Given the description of an element on the screen output the (x, y) to click on. 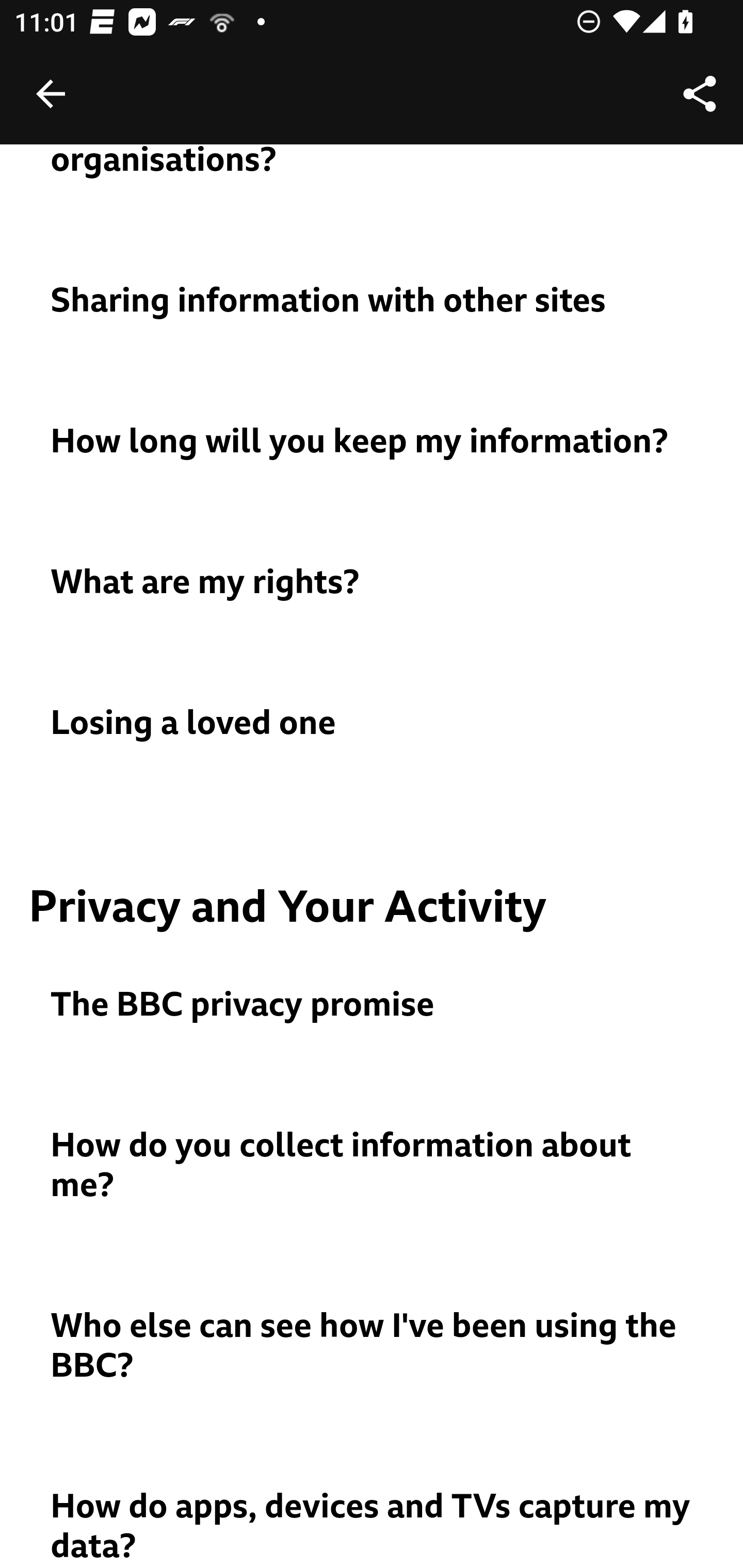
Back (50, 93)
Share (699, 93)
Sharing information with other sites (372, 302)
How long will you keep my information? (372, 442)
What are my rights? (372, 583)
Losing a loved one (372, 724)
The BBC privacy promise (372, 1006)
How do you collect information about me? (372, 1166)
Who else can see how I've been using the BBC? (372, 1347)
How do apps, devices and TVs capture my data? (372, 1528)
